Given the description of an element on the screen output the (x, y) to click on. 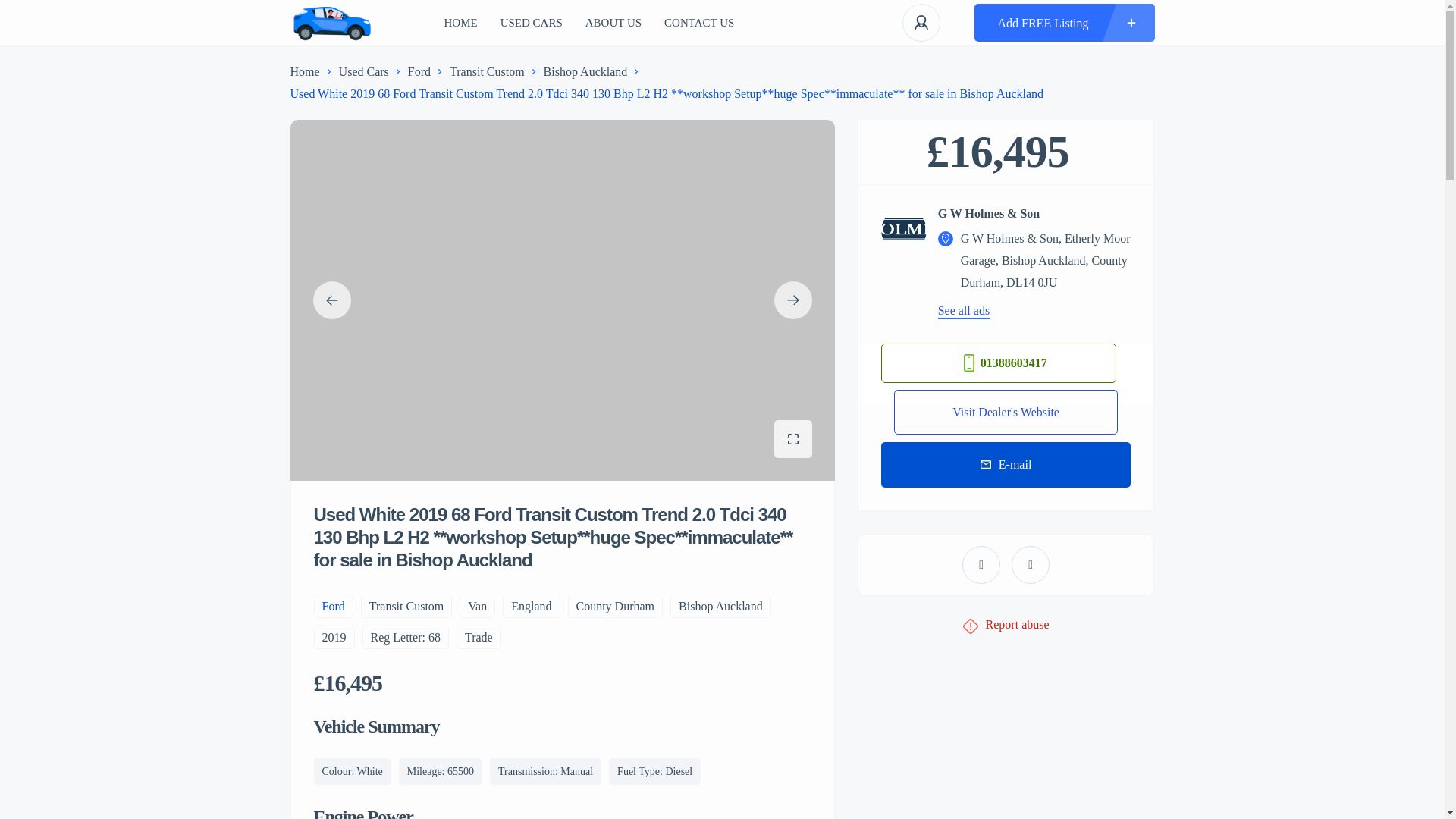
Transit Custom (486, 71)
Used Cars (531, 22)
About us (613, 22)
Used Cars For Sale (332, 22)
E-mail (1005, 464)
Used Cars (363, 71)
Ford (418, 71)
Your Account (921, 22)
Add FREE Listing (1064, 22)
ABOUT US (613, 22)
